Given the description of an element on the screen output the (x, y) to click on. 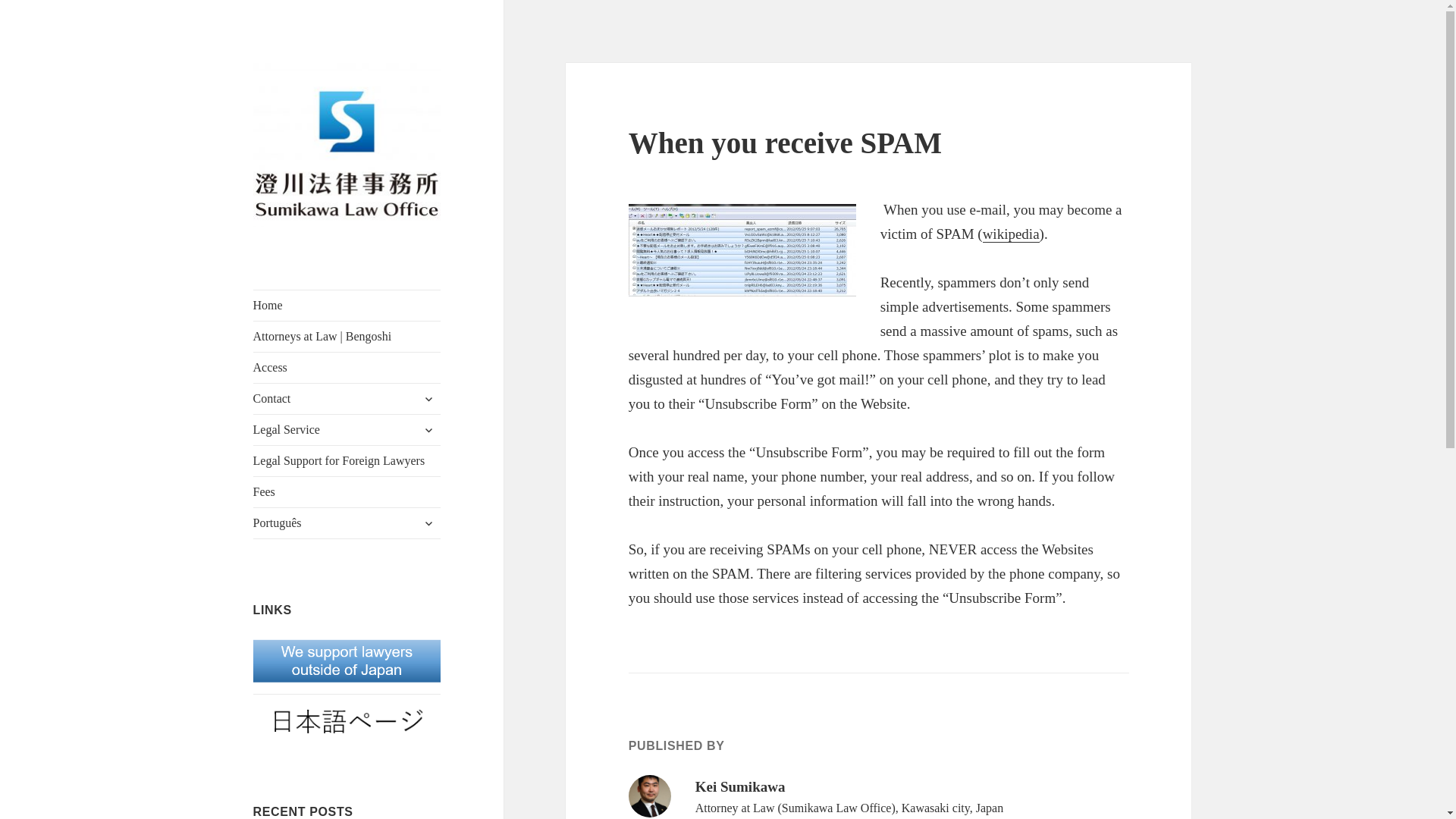
expand child menu (428, 523)
Fees (347, 491)
Home (347, 305)
Legal Support for Foreign Lawyers (347, 460)
expand child menu (428, 429)
Access (347, 367)
Legal Service (347, 429)
Contact (347, 399)
expand child menu (428, 398)
meiwaku (742, 249)
